Given the description of an element on the screen output the (x, y) to click on. 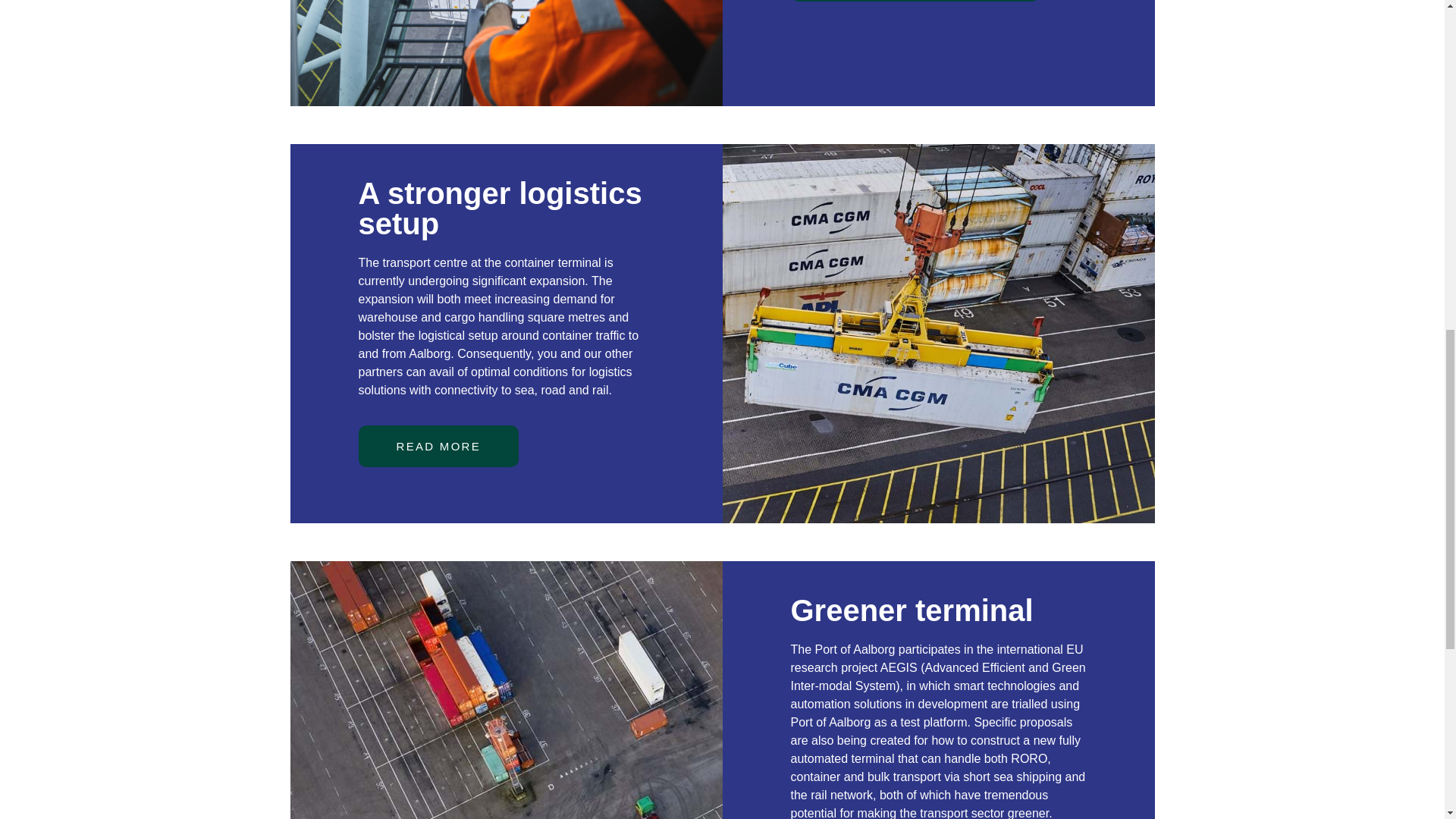
READ MORE (438, 445)
